Given the description of an element on the screen output the (x, y) to click on. 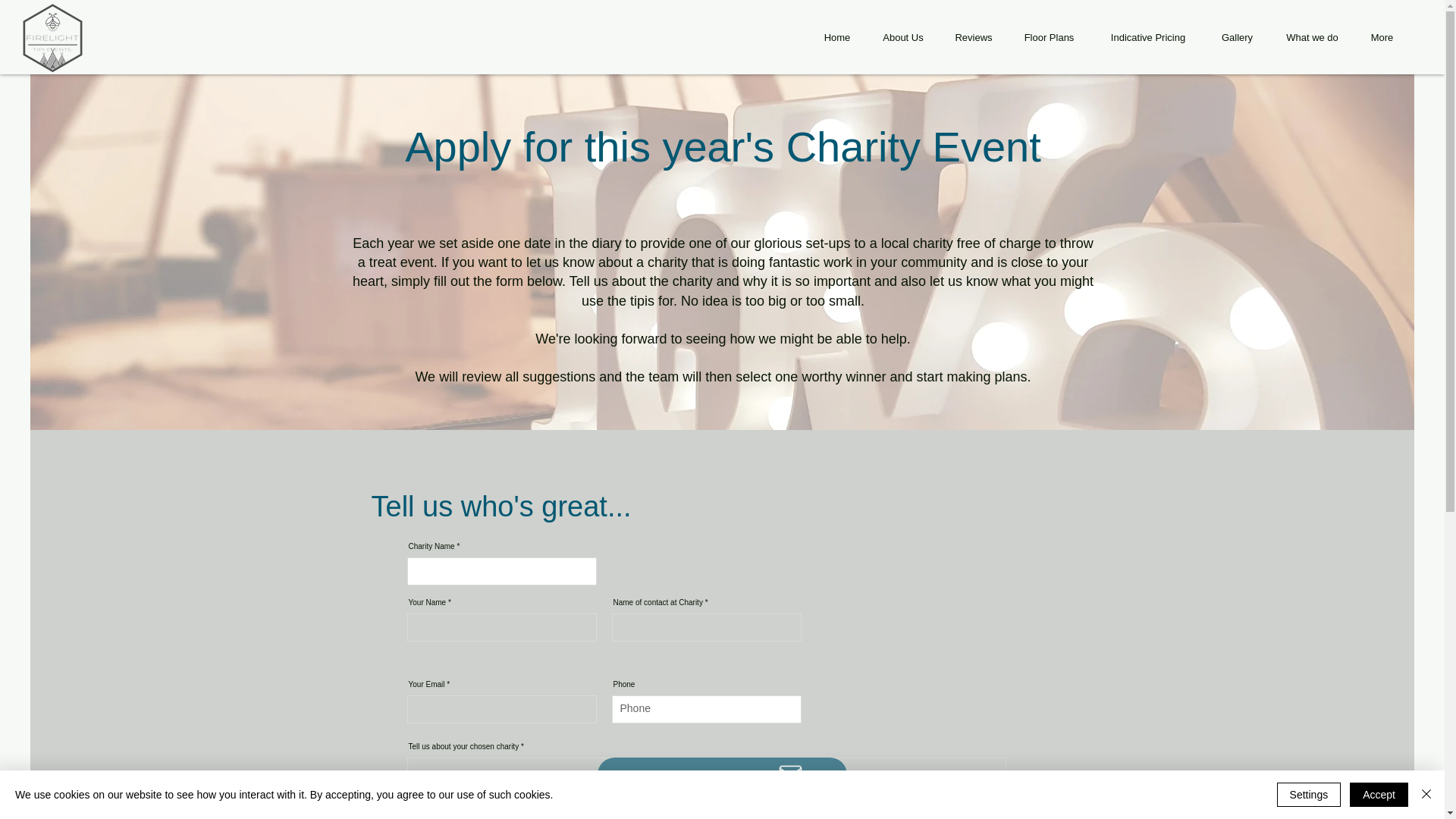
Accept (1378, 794)
About Us (902, 37)
What we do (1311, 37)
Indicative Pricing (1147, 37)
Reviews (973, 37)
Get a Quote Now (721, 774)
Home (837, 37)
Floor Plans (1048, 37)
Gallery (1236, 37)
Settings (1308, 794)
